Given the description of an element on the screen output the (x, y) to click on. 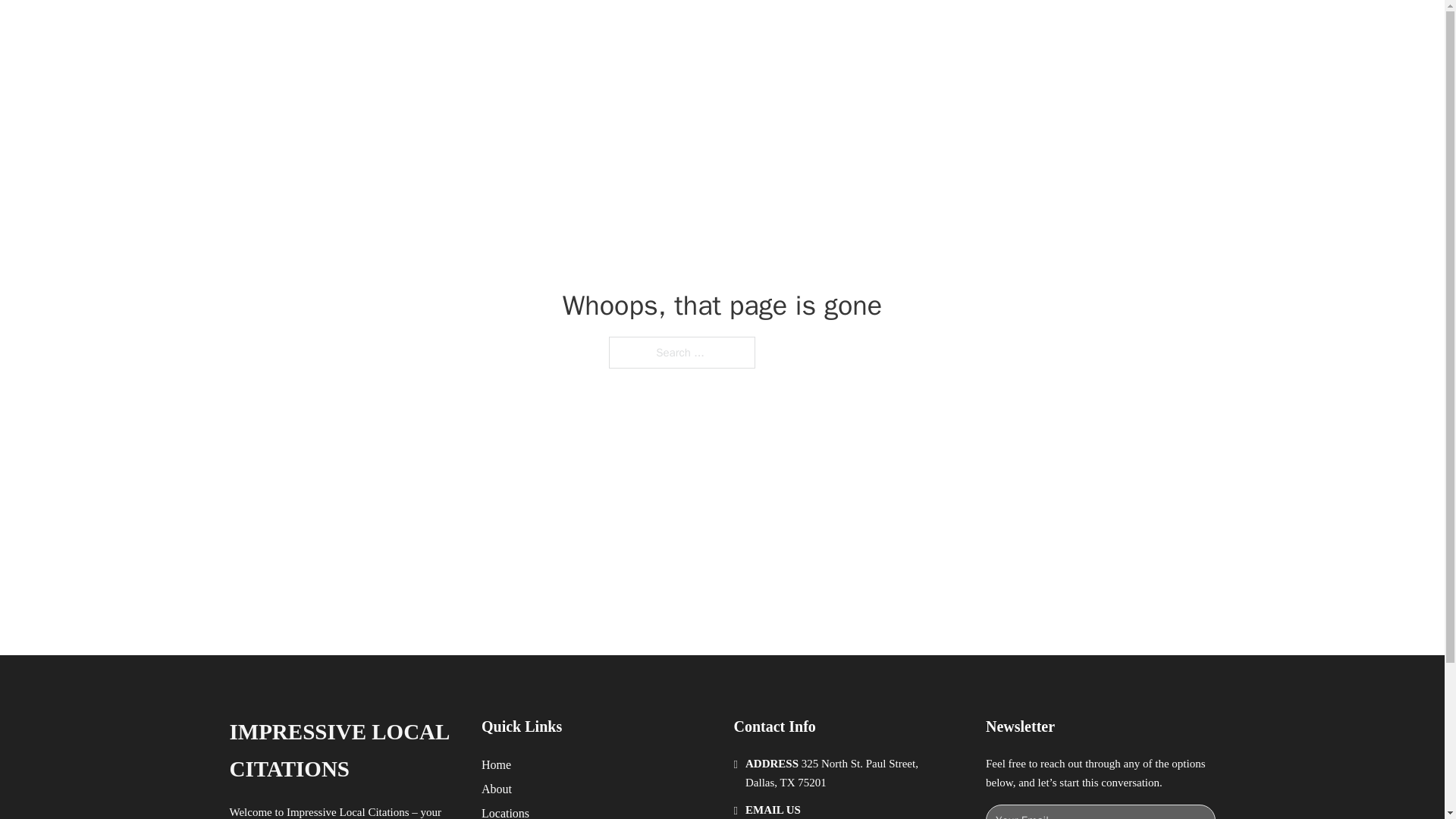
IMPRESSIVE LOCAL CITATIONS (458, 28)
About (496, 788)
Home (496, 764)
IMPRESSIVE LOCAL CITATIONS (343, 750)
Locations (505, 811)
